Given the description of an element on the screen output the (x, y) to click on. 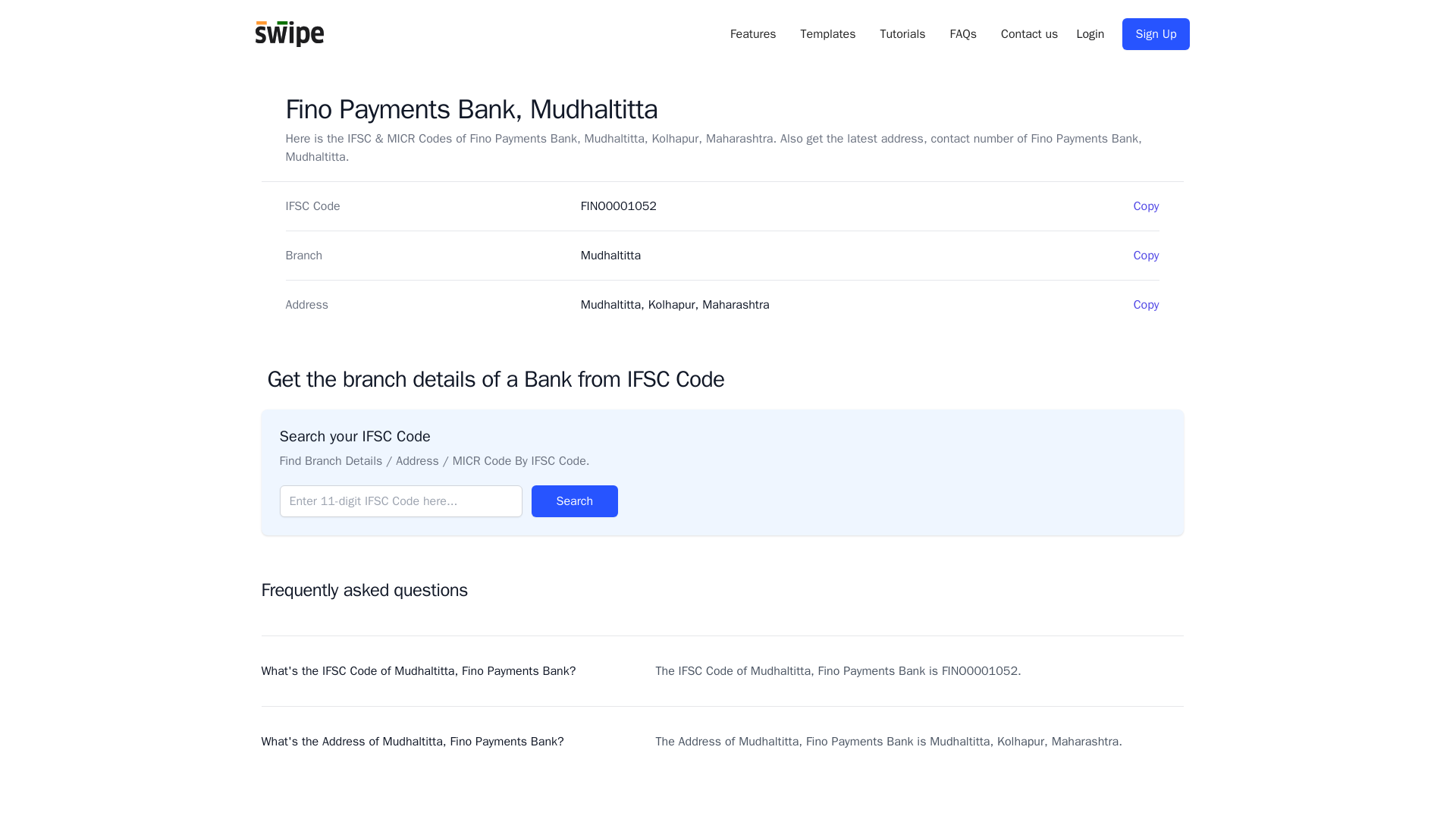
Copy (1146, 304)
Contact us (1029, 34)
Templates (828, 34)
Search (574, 500)
Copy (1146, 255)
Copy (1146, 206)
FAQs (963, 34)
Tutorials (901, 34)
Sign Up (1155, 33)
Login (1089, 34)
Features (753, 34)
